Given the description of an element on the screen output the (x, y) to click on. 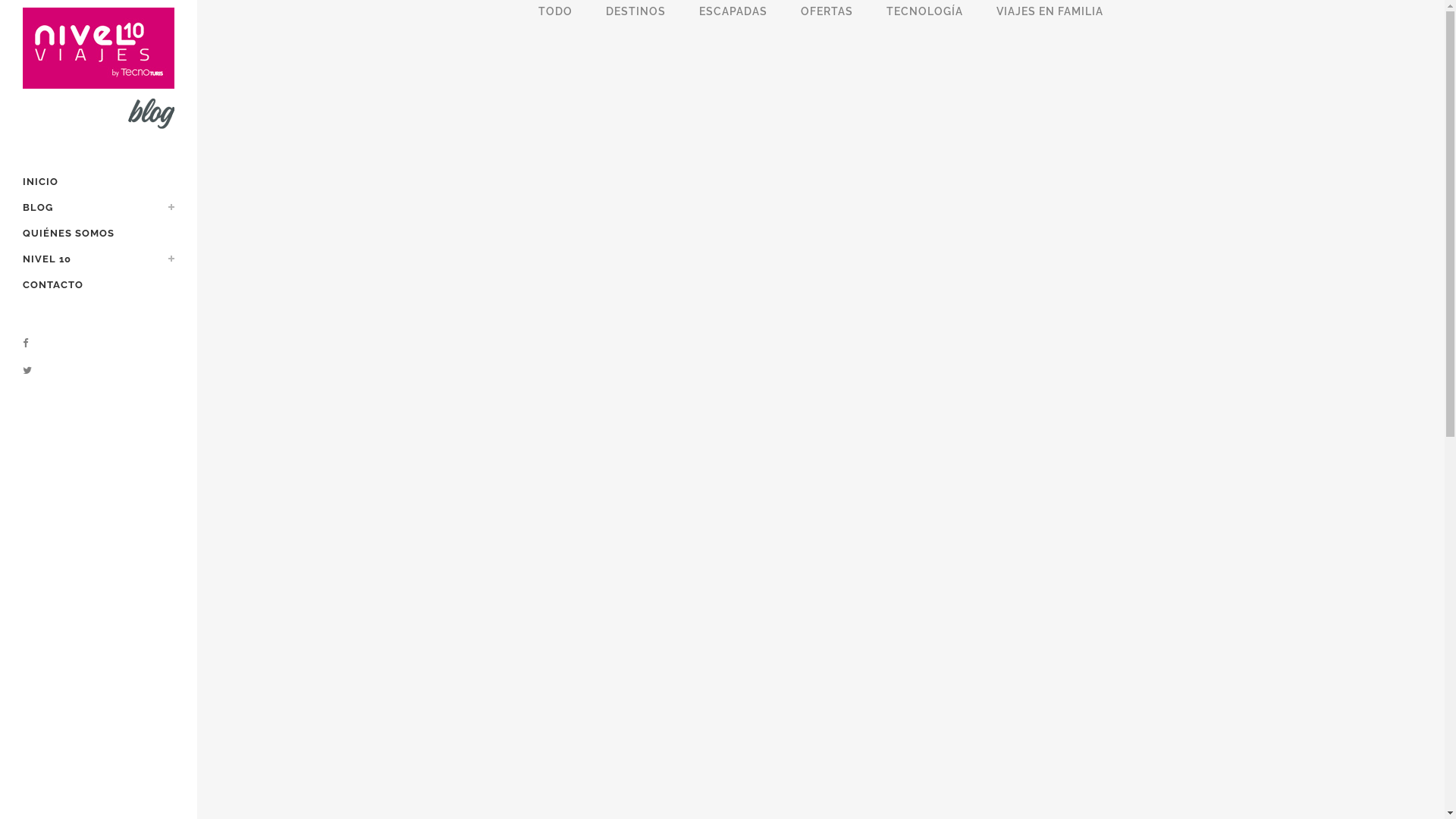
Condiciones generales Element type: text (692, 798)
NIVEL 10 Element type: text (98, 259)
BLOG Element type: text (98, 207)
CONTACTO Element type: text (98, 285)
INICIO Element type: text (98, 181)
Aviso legal Element type: text (770, 798)
